Given the description of an element on the screen output the (x, y) to click on. 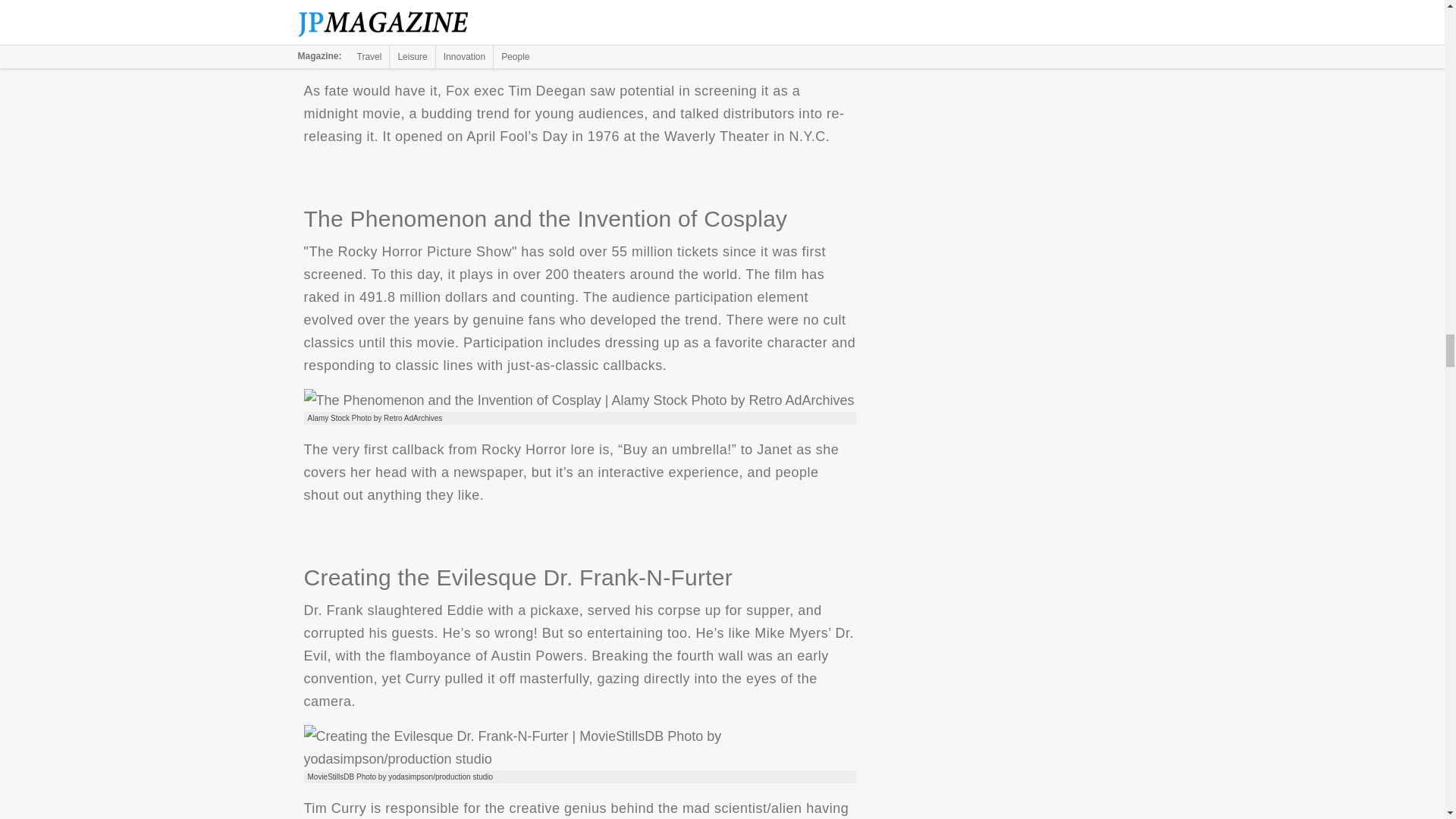
Creating the Evilesque Dr. Frank-N-Furter (579, 747)
The Phenomenon and the Invention of Cosplay (577, 400)
It Tanked in Theaters (517, 41)
